Given the description of an element on the screen output the (x, y) to click on. 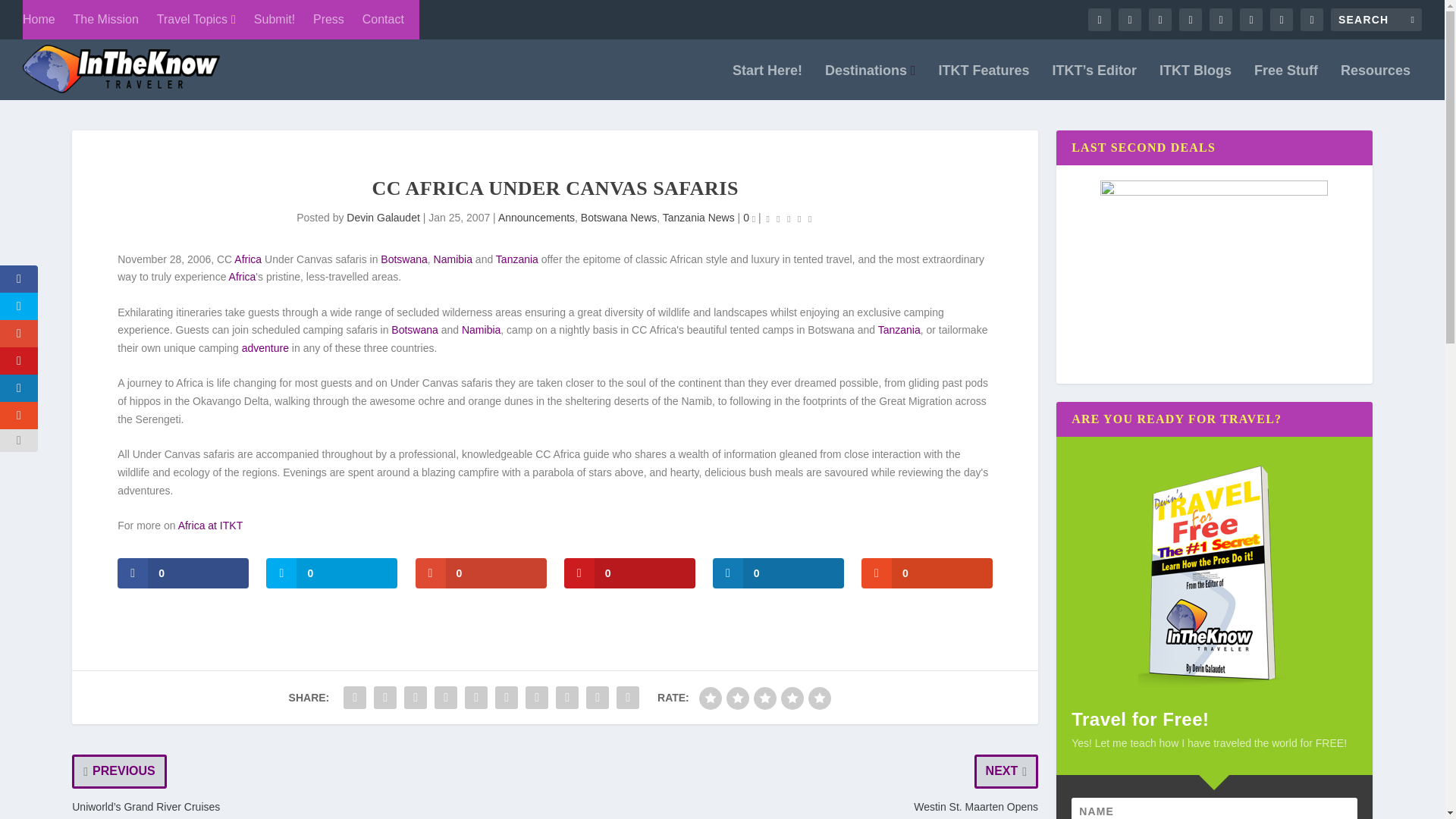
Share "CC Africa Under Canvas Safaris" via Stumbleupon (566, 697)
Start Here! (767, 81)
Share "CC Africa Under Canvas Safaris" via Twitter (384, 697)
Posts by Devin Galaudet (383, 217)
Share "CC Africa Under Canvas Safaris" via Facebook (354, 697)
Destinations (870, 81)
Travel Topics (196, 19)
Contact (383, 19)
The Mission (106, 19)
Share "CC Africa Under Canvas Safaris" via LinkedIn (506, 697)
